Given the description of an element on the screen output the (x, y) to click on. 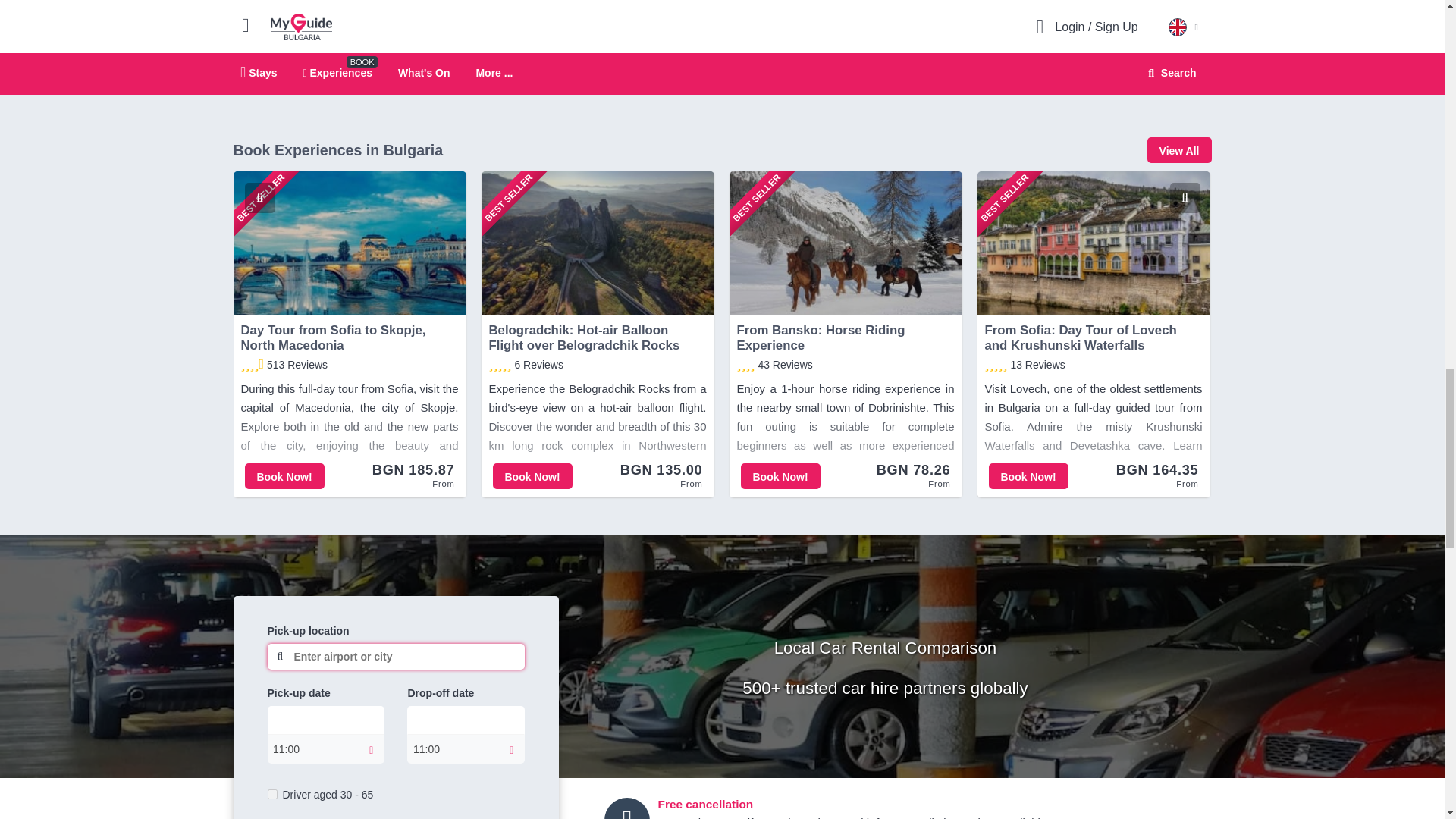
on (271, 794)
